Given the description of an element on the screen output the (x, y) to click on. 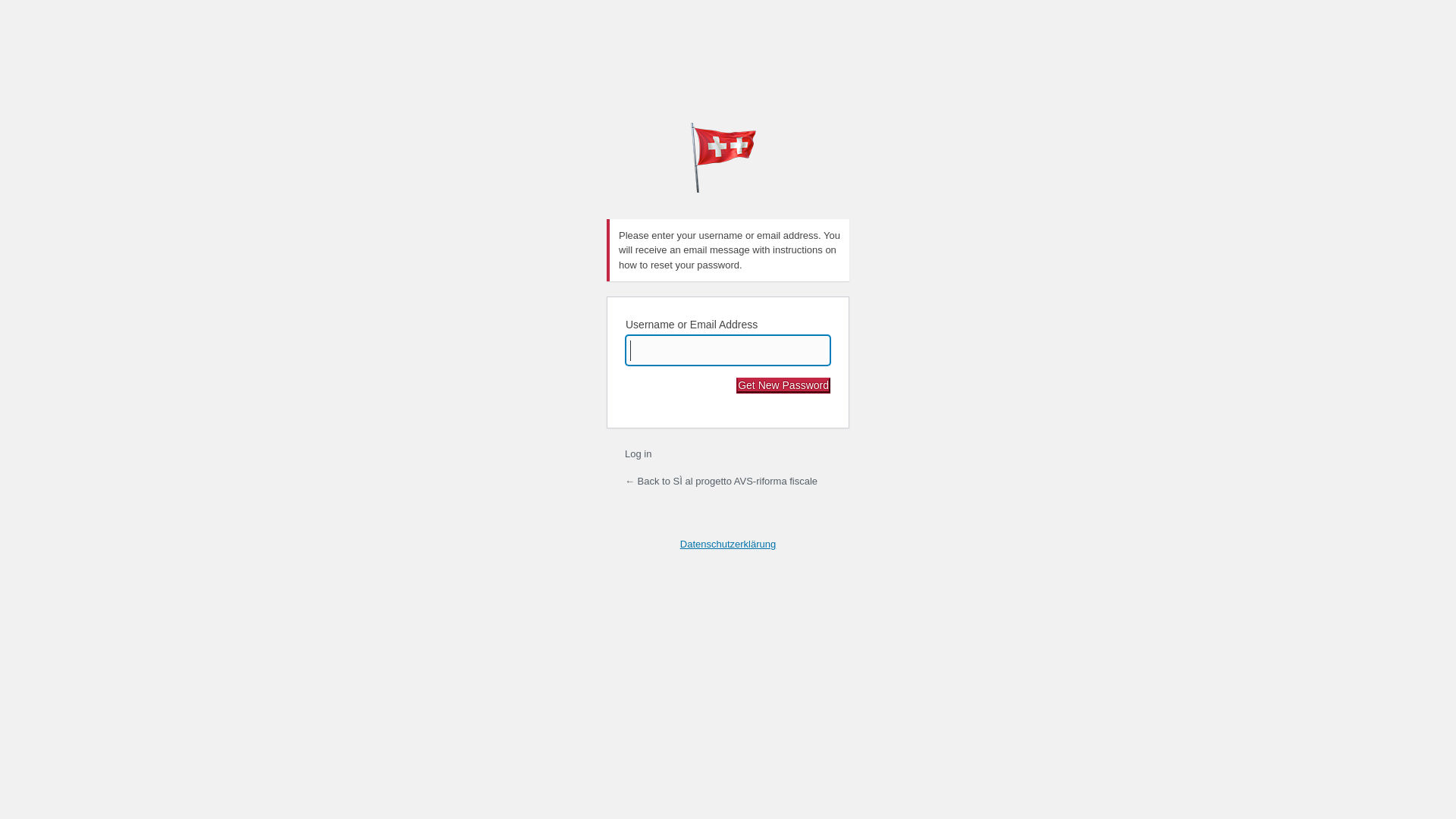
Get New Password Element type: text (783, 384)
Powered by WordPress Element type: text (727, 158)
Log in Element type: text (637, 453)
